Given the description of an element on the screen output the (x, y) to click on. 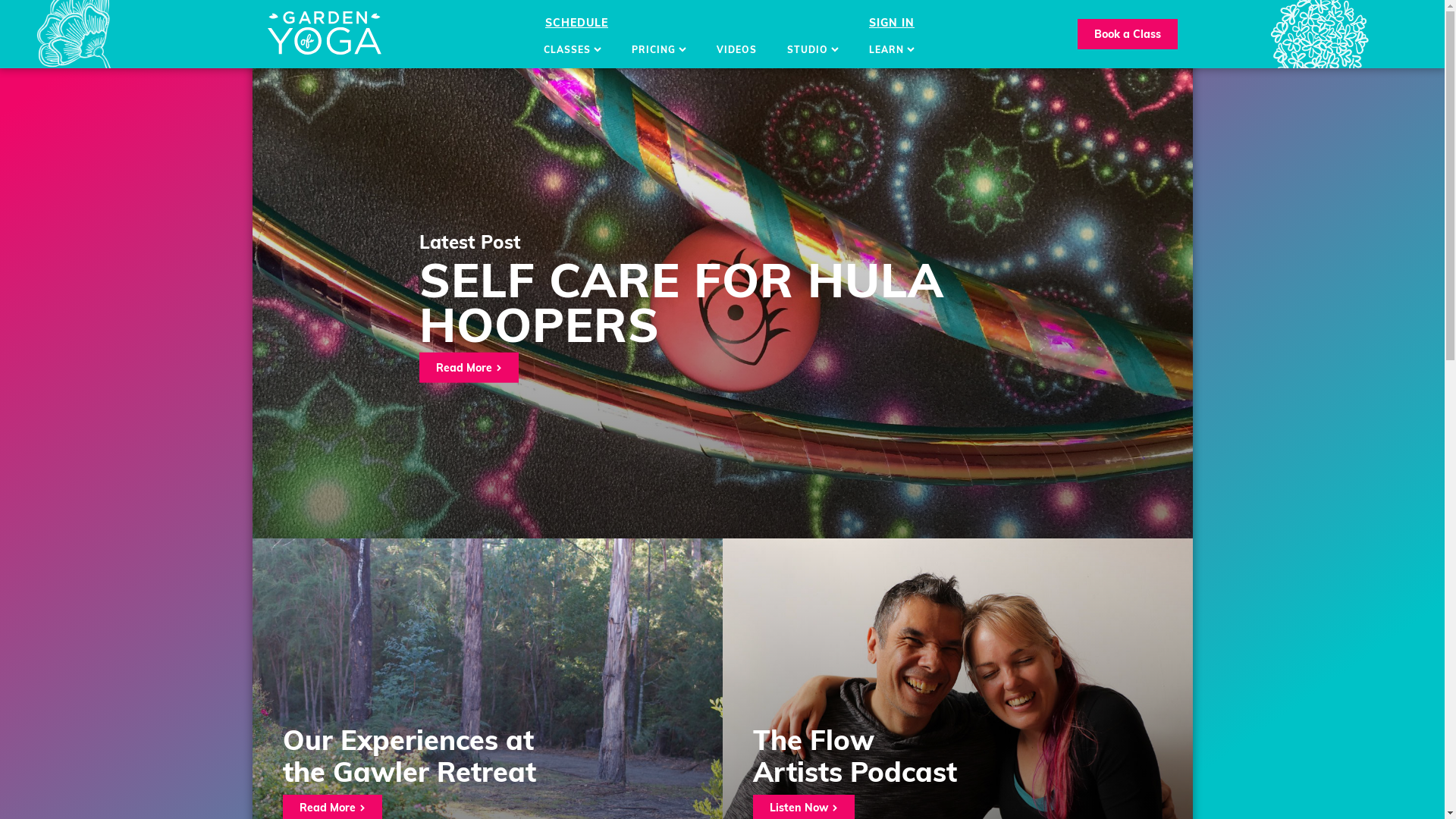
PRICING Element type: text (658, 49)
CLASSES Element type: text (572, 49)
SIGN IN Element type: text (891, 22)
STUDIO Element type: text (812, 49)
Book a Class Element type: text (1126, 33)
The Flow Artists Podcast Element type: text (854, 754)
LEARN Element type: text (891, 49)
Read More Element type: text (467, 366)
SCHEDULE Element type: text (576, 22)
Our Experiences at the Gawler Retreat Element type: text (408, 754)
VIDEOS Element type: text (736, 49)
